Given the description of an element on the screen output the (x, y) to click on. 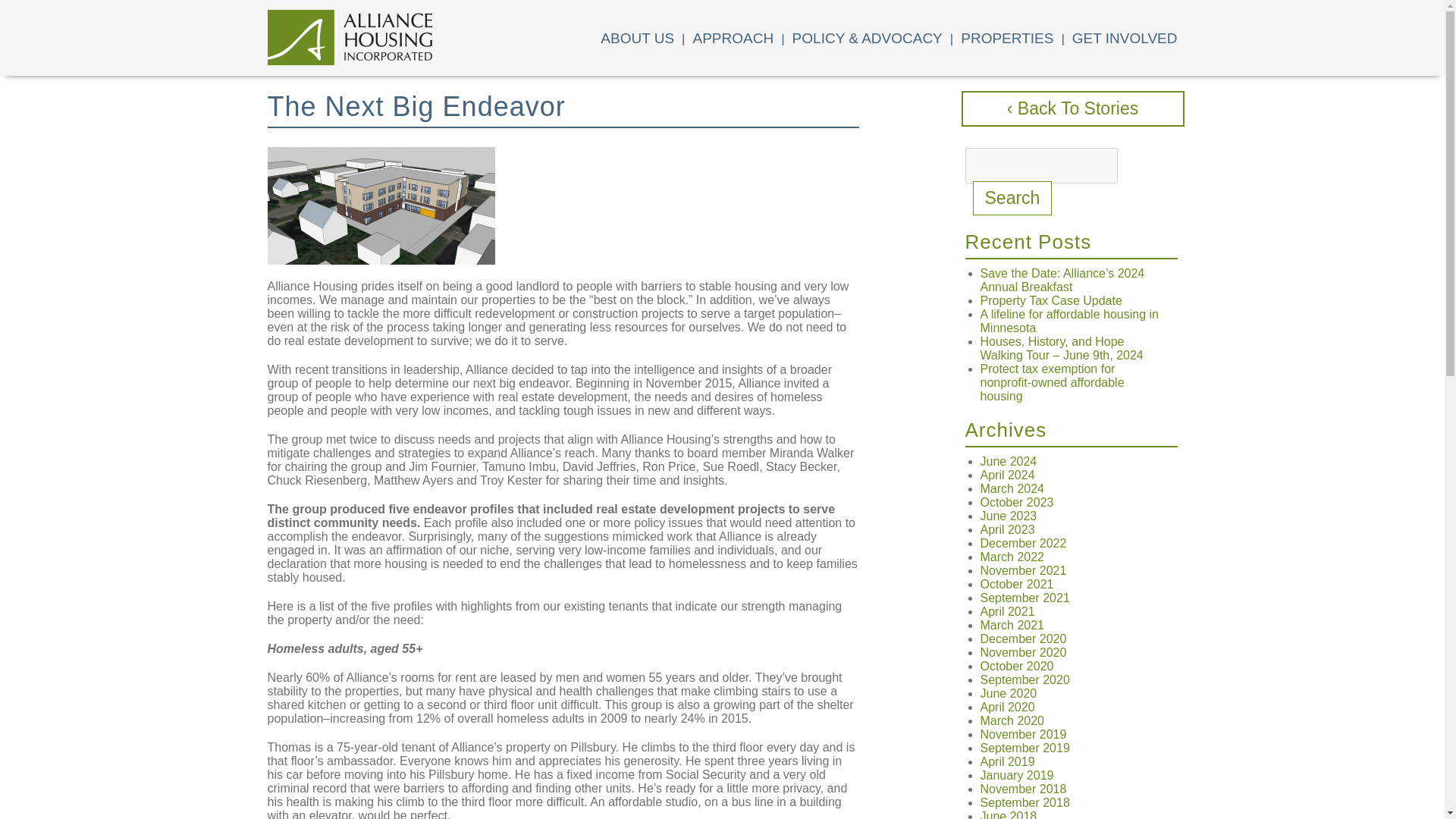
Protect tax exemption for nonprofit-owned affordable housing (1051, 382)
January 2019 (1015, 775)
June 2024 (1007, 461)
March 2020 (1011, 720)
PROPERTIES (1006, 37)
March 2024 (1011, 488)
April 2021 (1006, 611)
April 2023 (1006, 529)
November 2018 (1022, 788)
Property Tax Case Update (1050, 300)
ABOUT US (636, 37)
September 2020 (1023, 679)
June 2020 (1007, 693)
October 2023 (1015, 502)
October 2020 (1015, 666)
